Given the description of an element on the screen output the (x, y) to click on. 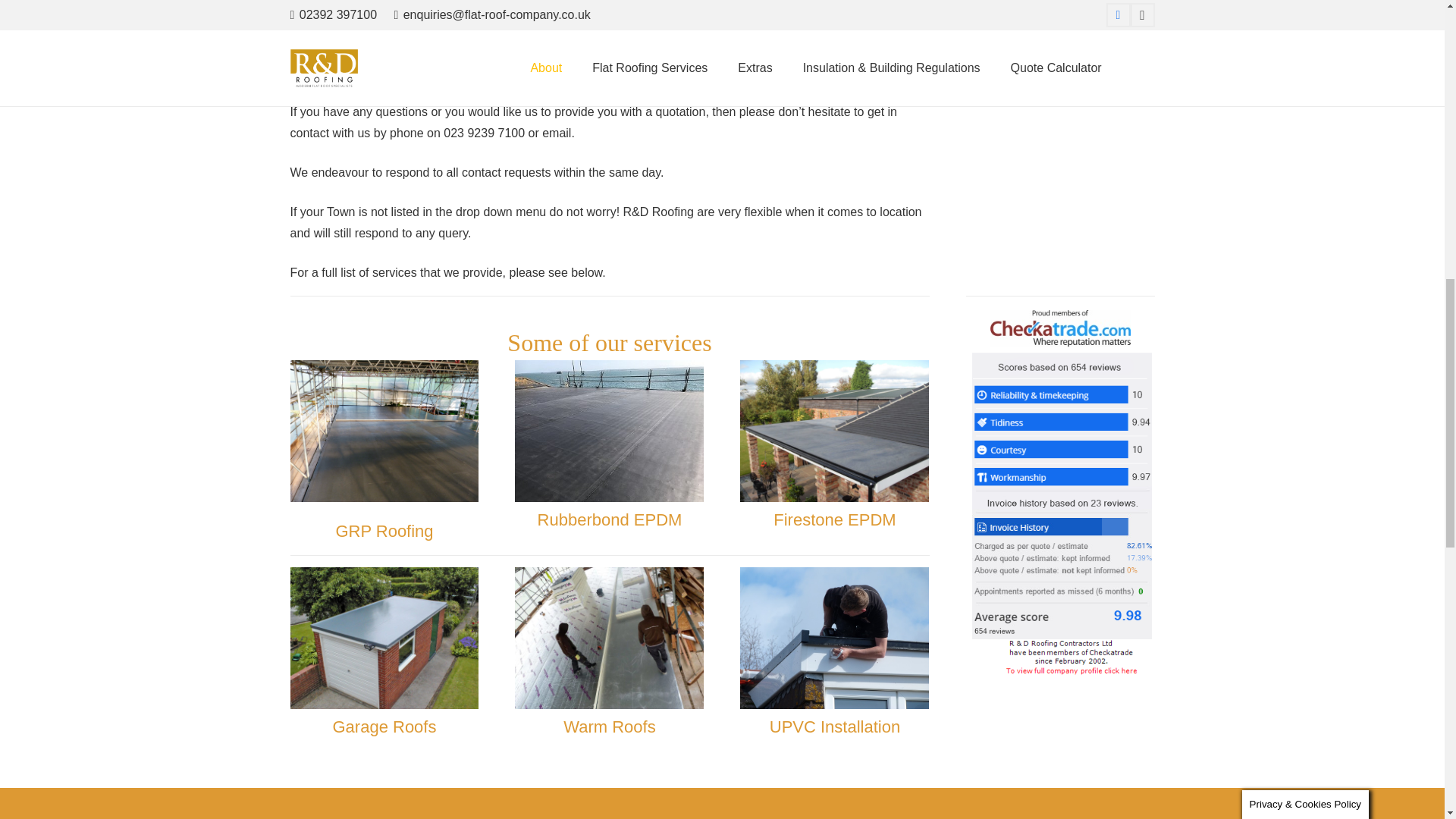
Back to top (1413, 30)
